Given the description of an element on the screen output the (x, y) to click on. 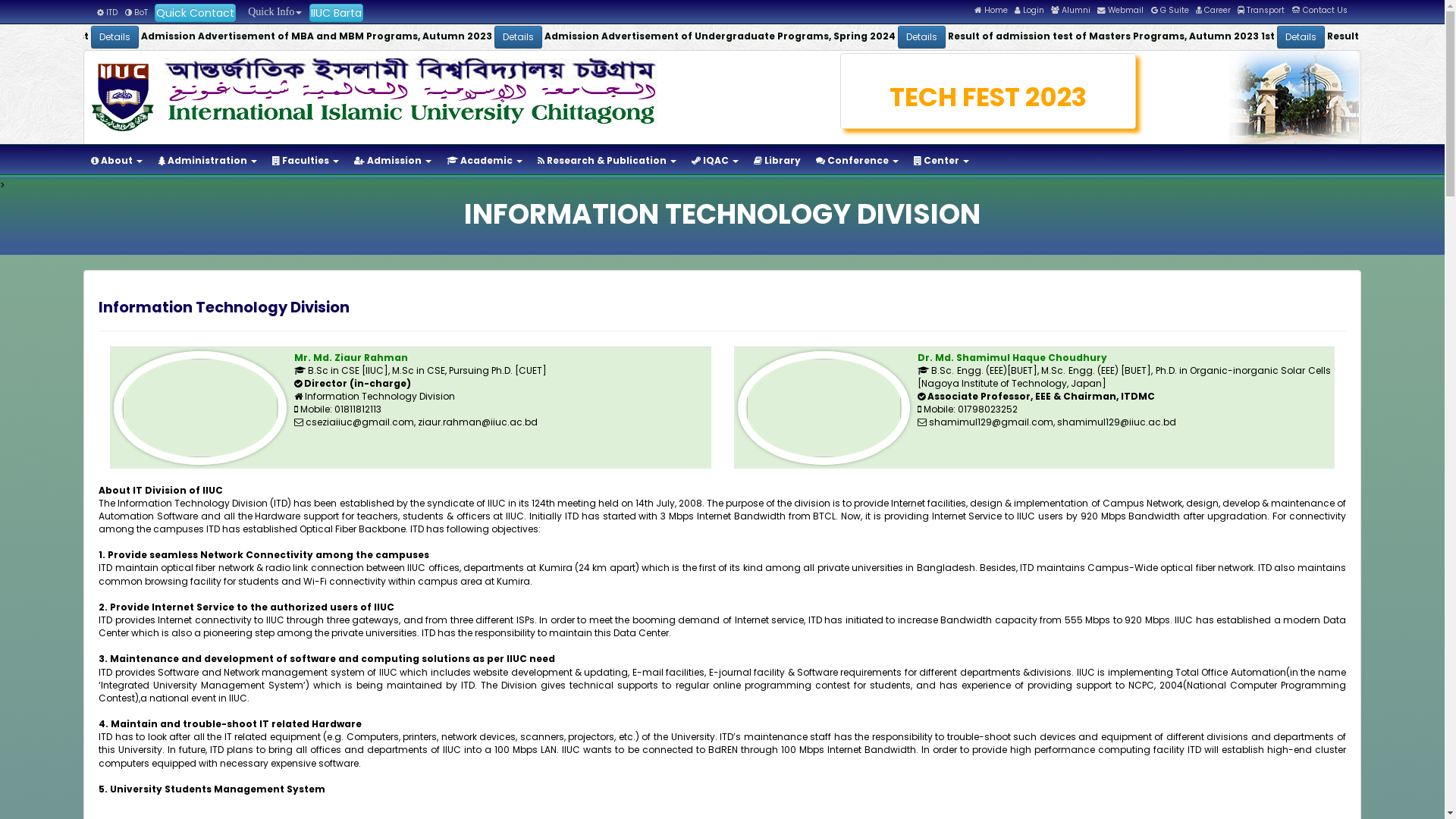
Conference Element type: text (857, 160)
Research & Publication Element type: text (607, 160)
Career Element type: text (1212, 9)
Quick Contact Element type: text (194, 12)
TECH FEST 2023 Element type: text (988, 97)
Details Element type: text (378, 36)
Login Element type: text (1029, 9)
Faculties Element type: text (305, 160)
IQAC Element type: text (715, 160)
Admission Element type: text (392, 160)
Center Element type: text (941, 160)
G Suite Element type: text (1170, 9)
Transport Element type: text (1260, 9)
Administration Element type: text (207, 160)
Details Element type: text (778, 36)
Home Element type: text (990, 9)
Webmail Element type: text (1120, 9)
Library Element type: text (777, 160)
IIUC Barta Element type: text (336, 12)
Details Element type: text (1152, 36)
Contact Us Element type: text (1319, 9)
  Quick Info Element type: text (271, 11)
Alumni Element type: text (1070, 9)
ITD Element type: text (107, 12)
Academic Element type: text (484, 160)
About Element type: text (116, 160)
BoT Element type: text (136, 12)
